Given the description of an element on the screen output the (x, y) to click on. 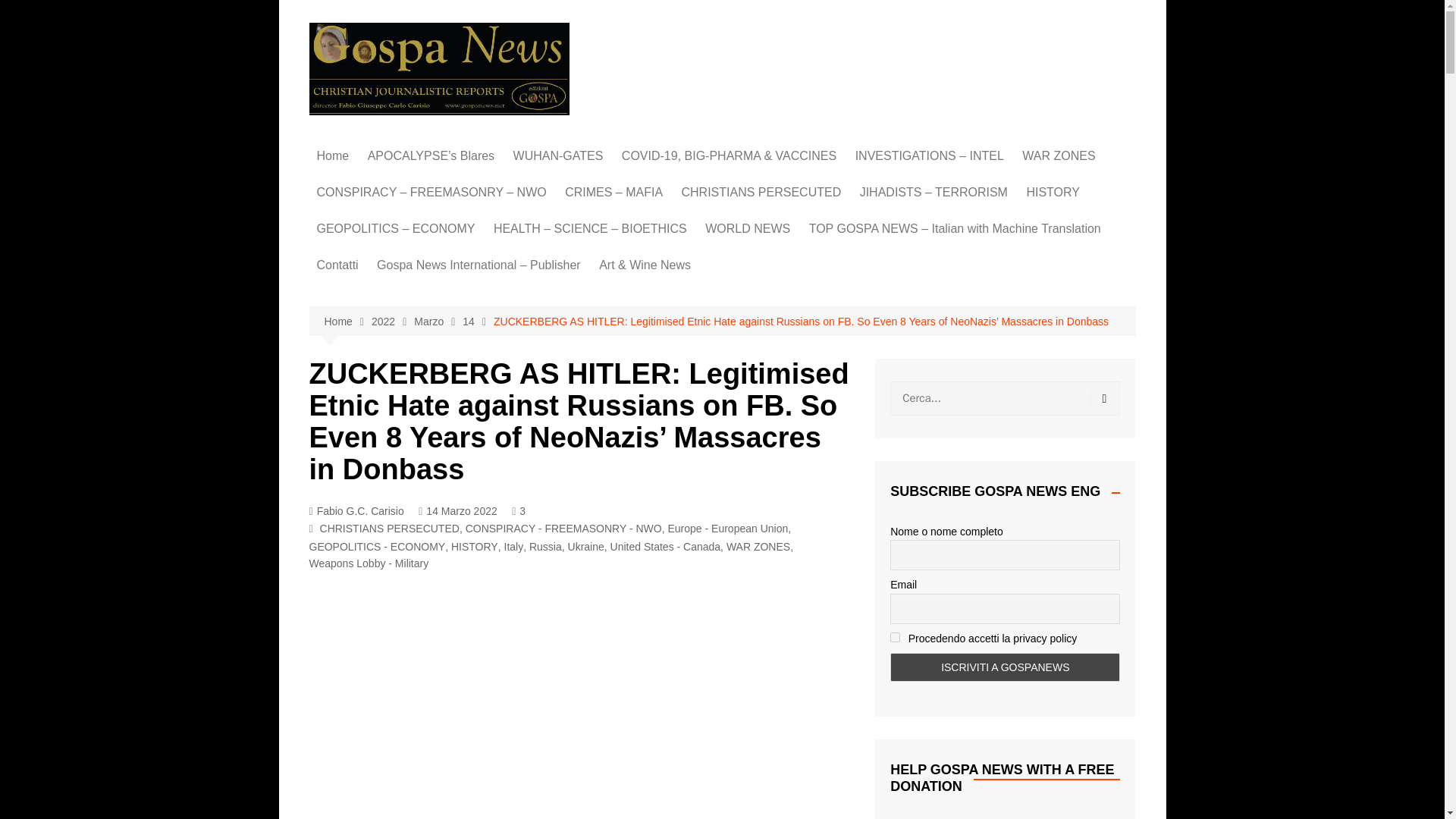
WAR ZONES (1058, 156)
Palestine Genocide (1097, 236)
Christian religion (569, 322)
on (894, 637)
WORLD NEWS (747, 228)
CHRISTIANS PERSECUTED (760, 192)
Ukraine (1097, 286)
Turkey (780, 434)
ISCRIVITI A GOSPANEWS (1004, 666)
Middle East (1097, 211)
